Given the description of an element on the screen output the (x, y) to click on. 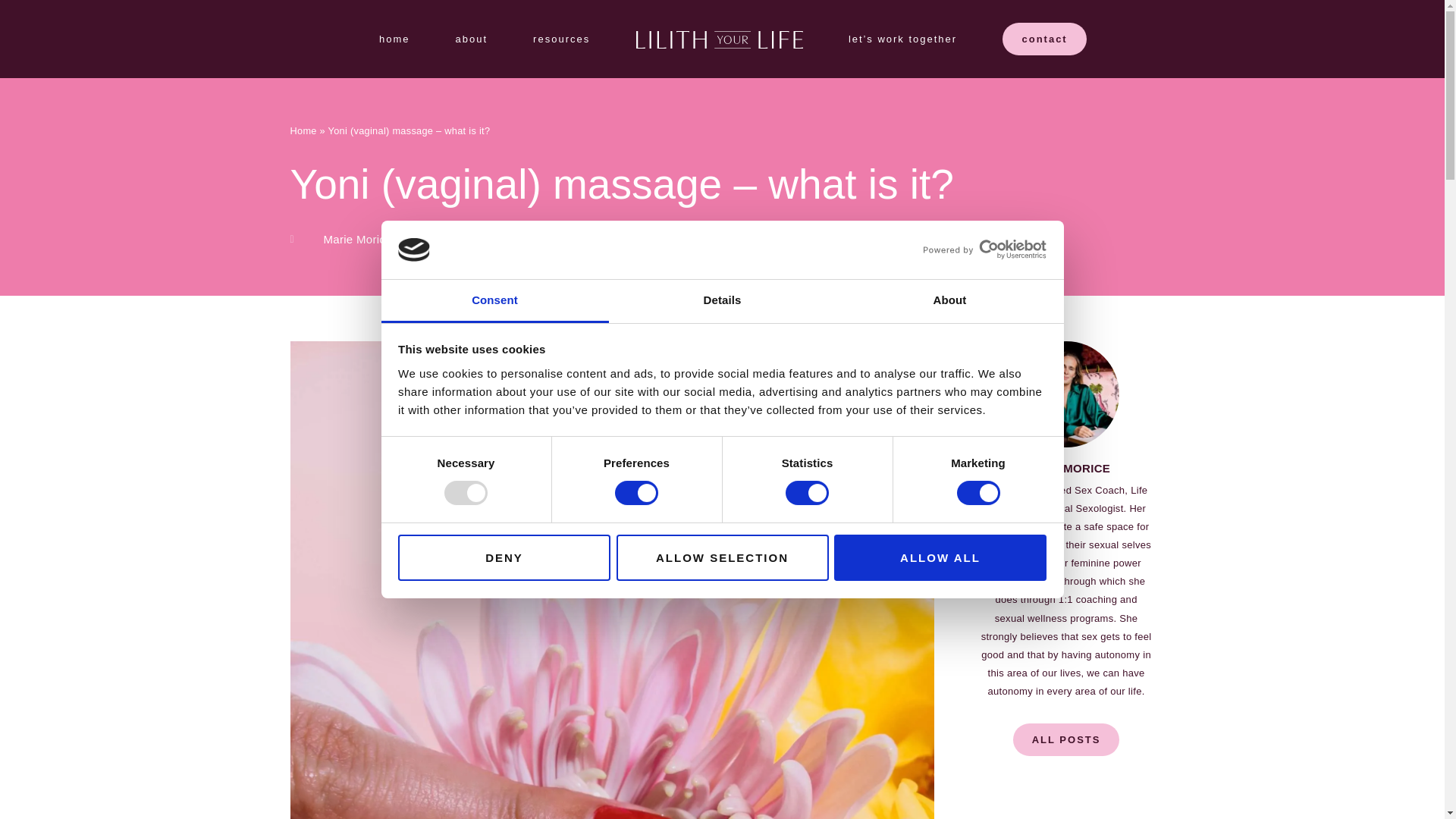
Details (721, 301)
DENY (503, 557)
About (948, 301)
Consent (494, 301)
ALLOW SELECTION (721, 557)
ALLOW ALL (940, 557)
